Given the description of an element on the screen output the (x, y) to click on. 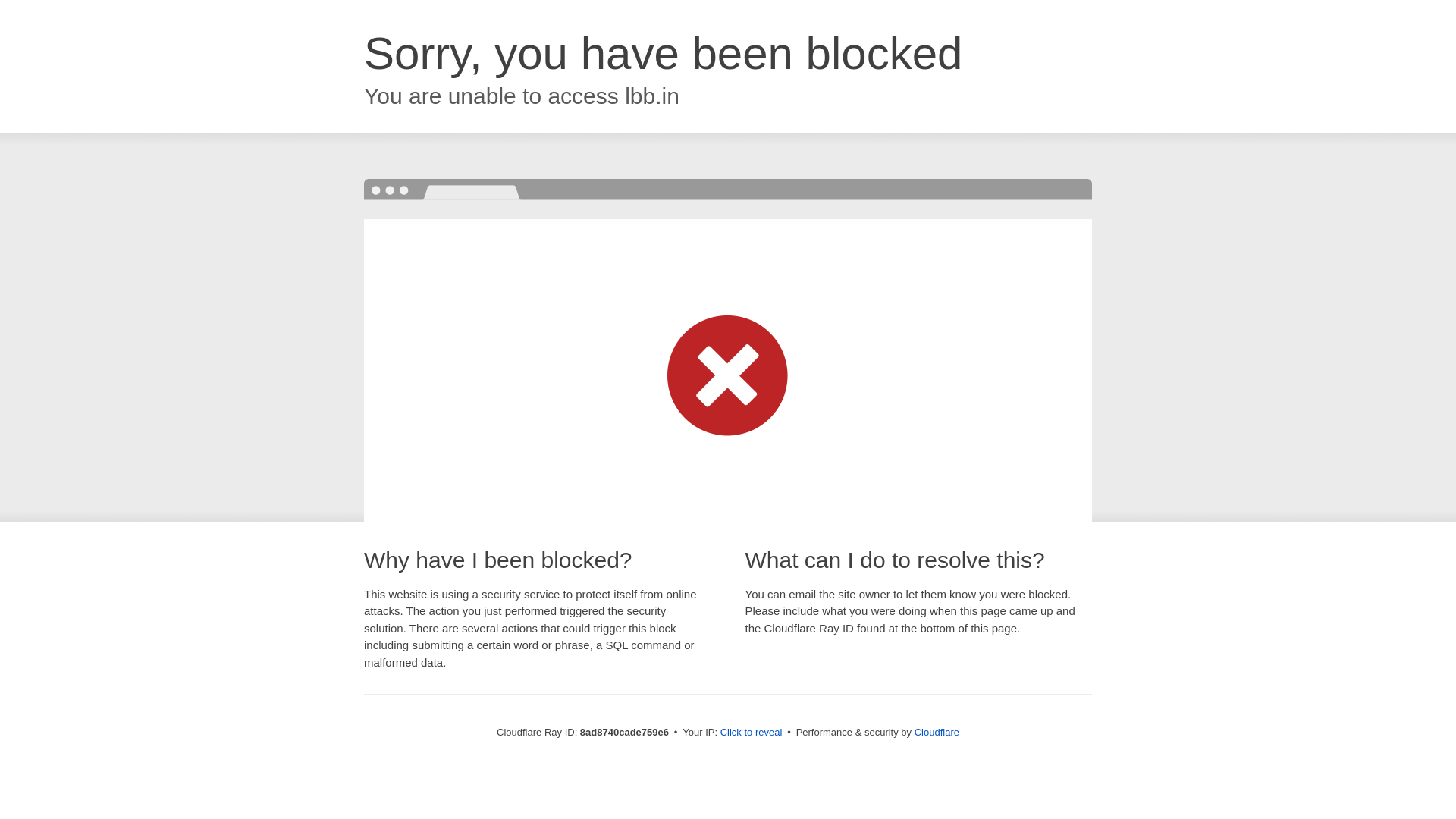
Cloudflare (936, 731)
Click to reveal (751, 732)
